Given the description of an element on the screen output the (x, y) to click on. 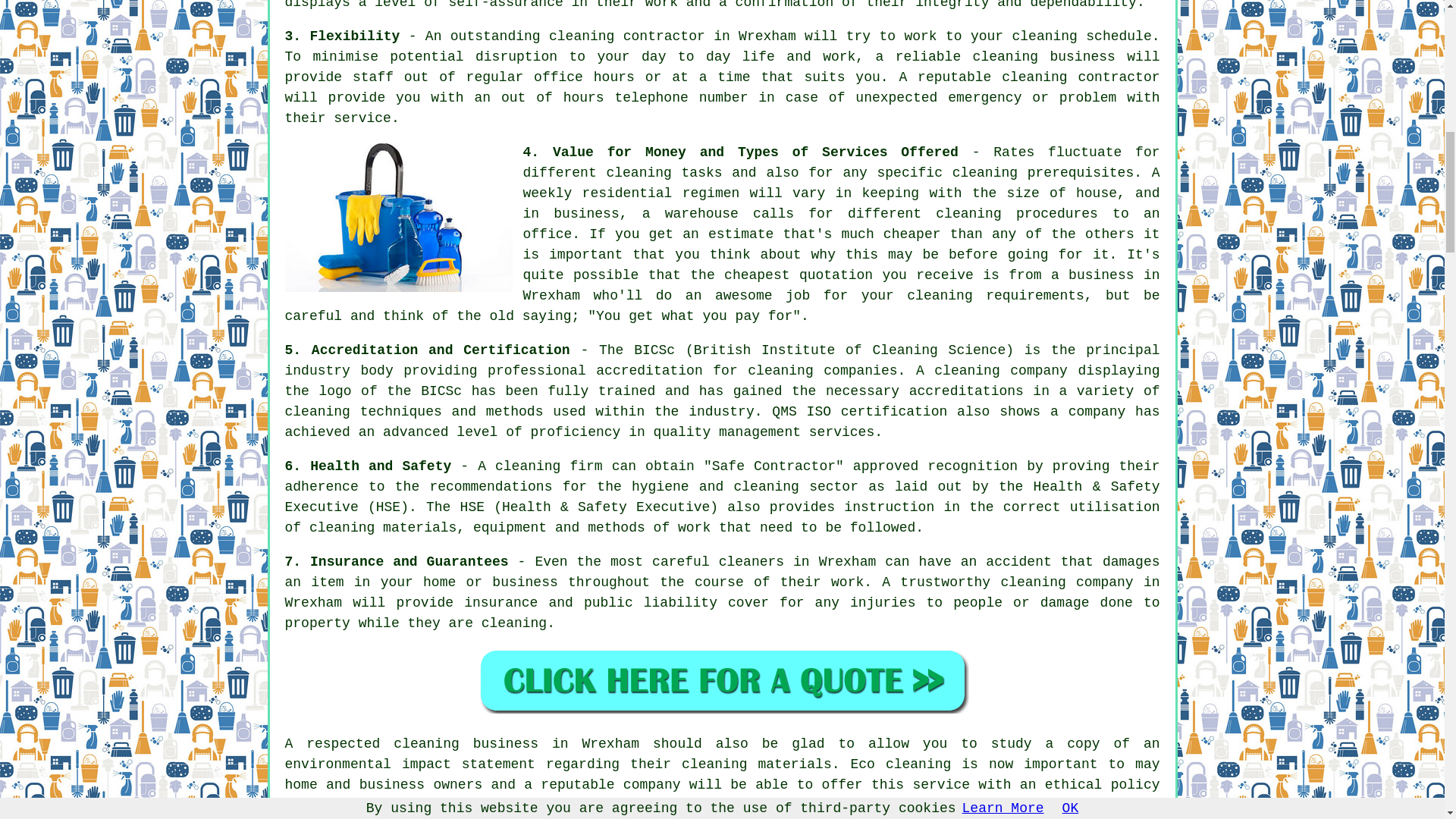
Cleaning Quotes in Wrexham Wales (722, 680)
